Given the description of an element on the screen output the (x, y) to click on. 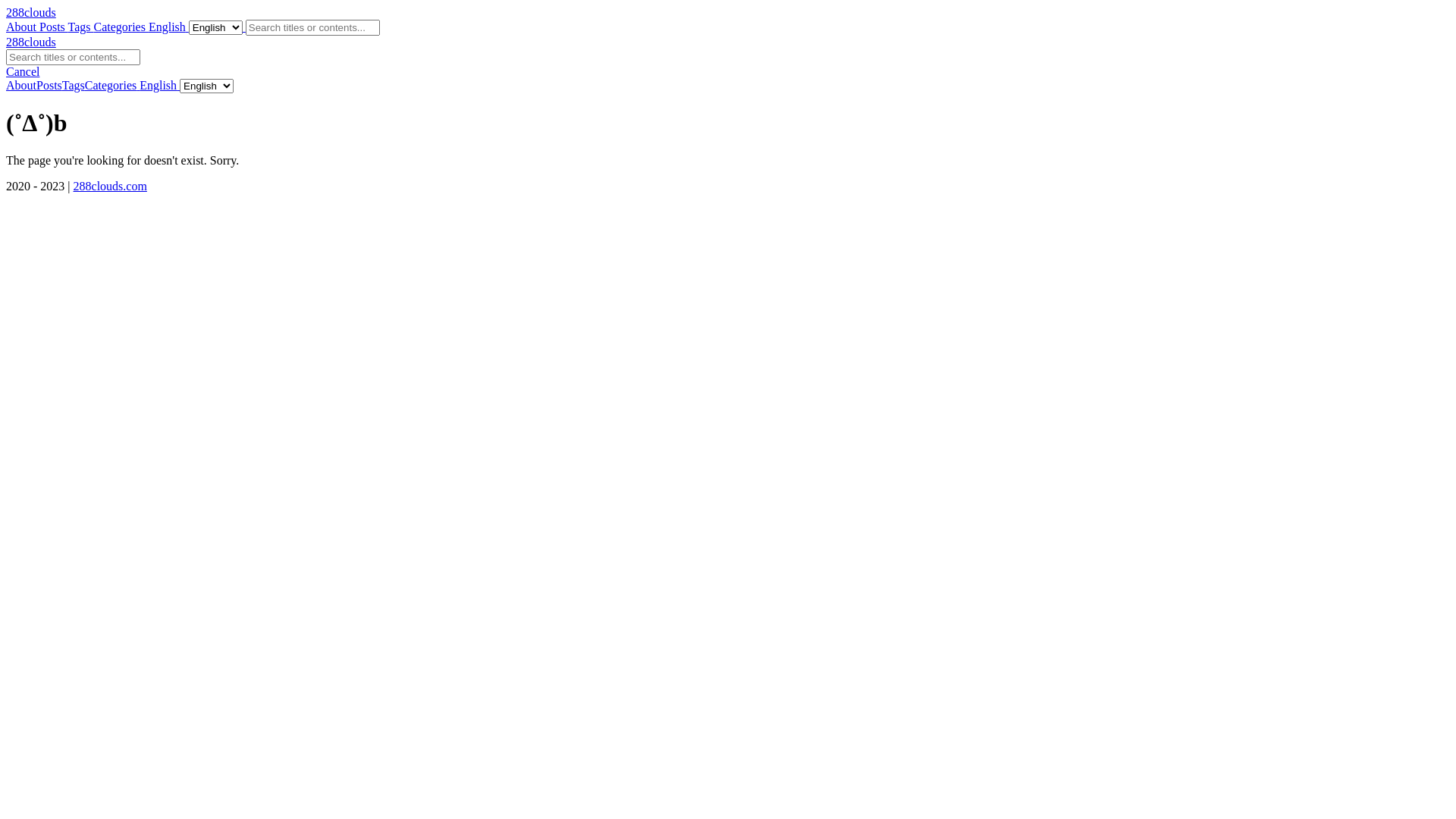
Tags Element type: text (81, 26)
Posts Element type: text (53, 26)
288clouds Element type: text (31, 41)
Switch Theme Element type: hover (137, 84)
Tags Element type: text (73, 84)
Posts Element type: text (49, 84)
Cancel Element type: text (22, 71)
288clouds.com Element type: text (110, 185)
Categories Element type: text (121, 26)
Categories Element type: text (110, 84)
About Element type: text (21, 84)
288clouds Element type: text (31, 12)
About Element type: text (22, 26)
